Given the description of an element on the screen output the (x, y) to click on. 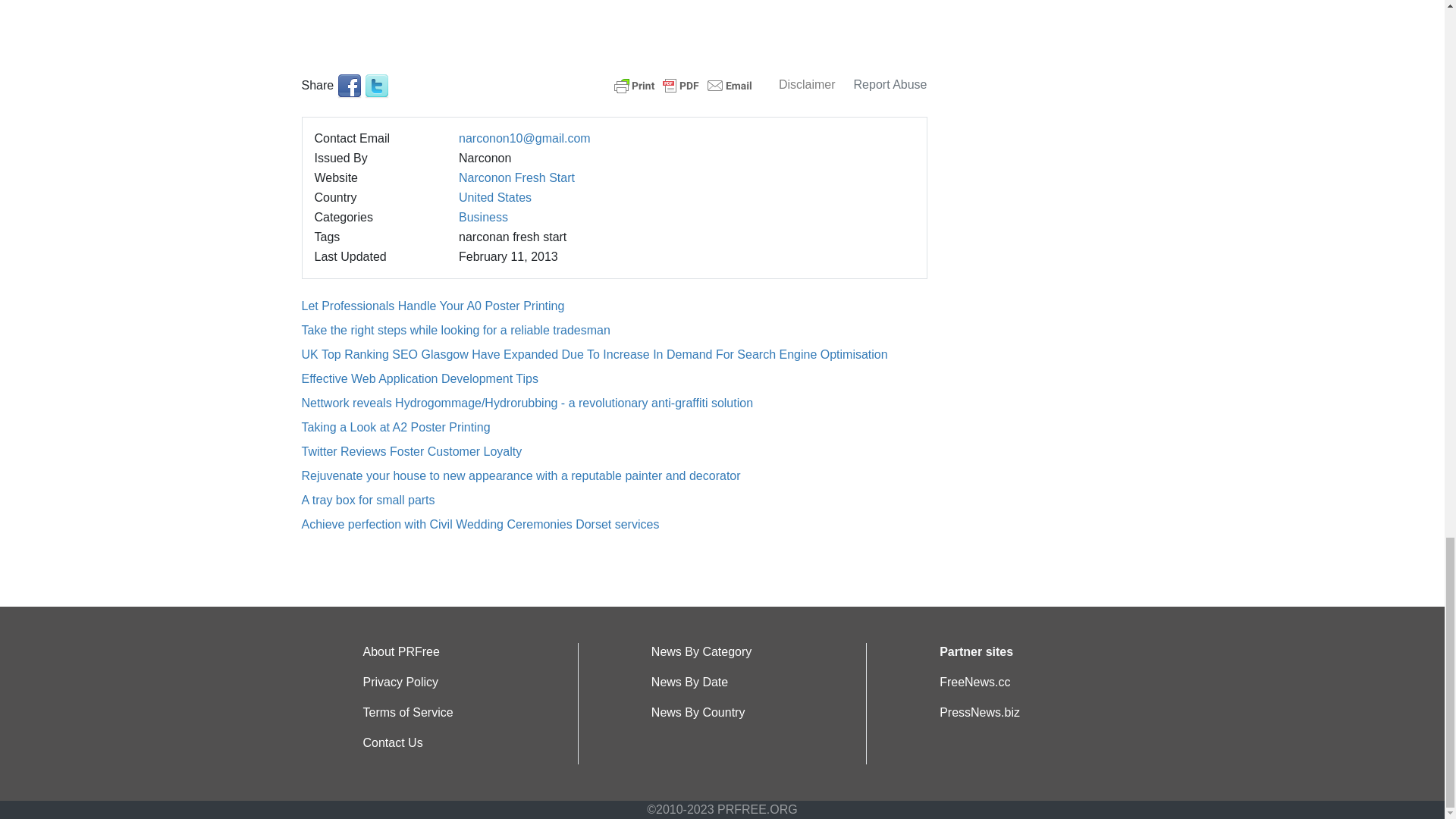
Narconon Fresh Start (516, 177)
Report Abuse (890, 83)
Business (483, 216)
Terms of Service (407, 712)
Effective Web Application Development Tips (419, 378)
United States (494, 196)
Disclaimer (806, 83)
Printer Friendly and PDF (683, 83)
A tray box for small parts (368, 499)
Twitter Reviews Foster Customer Loyalty (411, 451)
Taking a Look at A2 Poster Printing (395, 427)
Privacy Policy (400, 681)
